Given the description of an element on the screen output the (x, y) to click on. 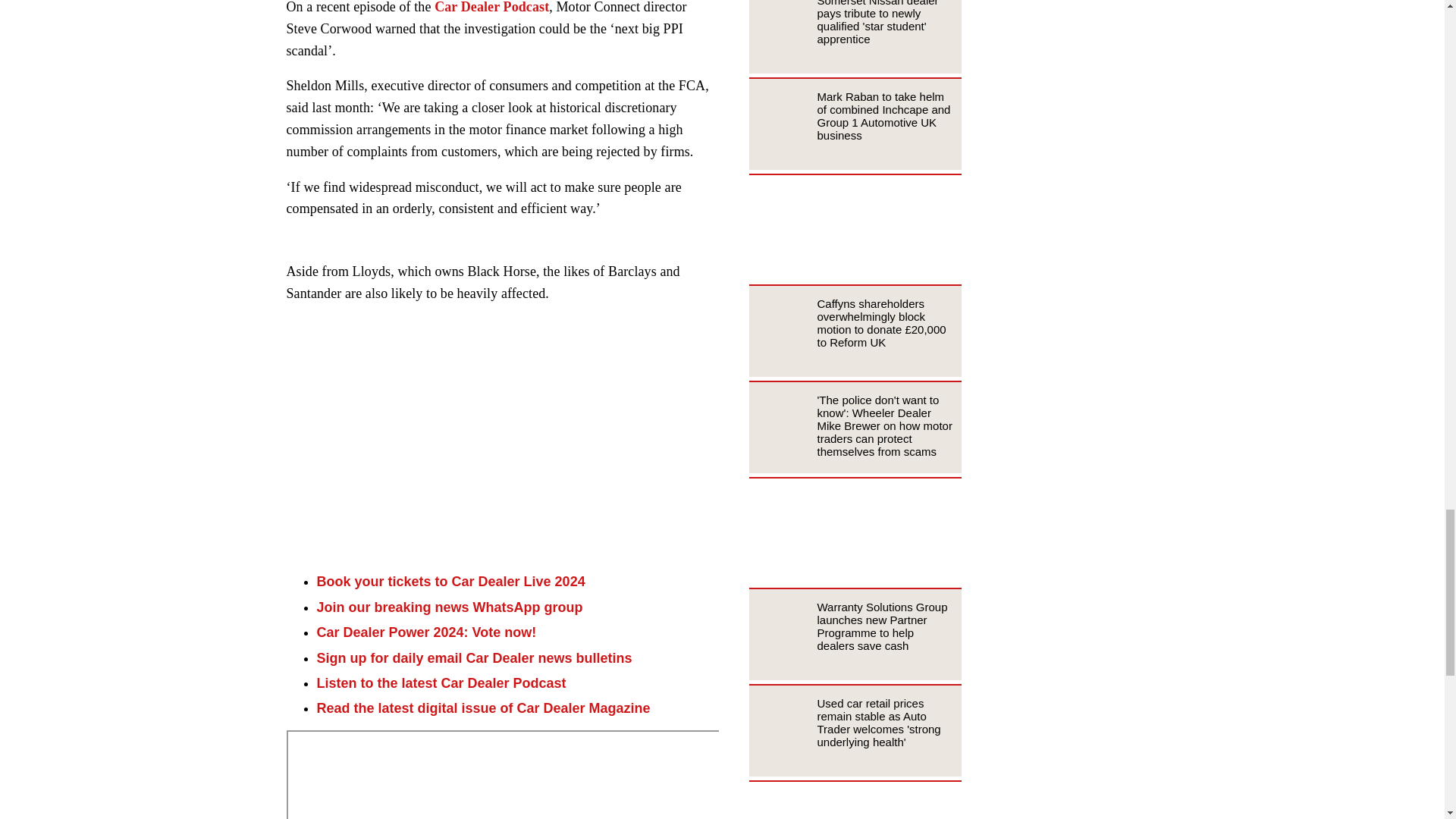
Why you'll REALLY want to be at Car Dealer Live 2024 (502, 439)
Car Dealer Podcast (490, 7)
Book your tickets to Car Dealer Live 2024 (451, 581)
